Given the description of an element on the screen output the (x, y) to click on. 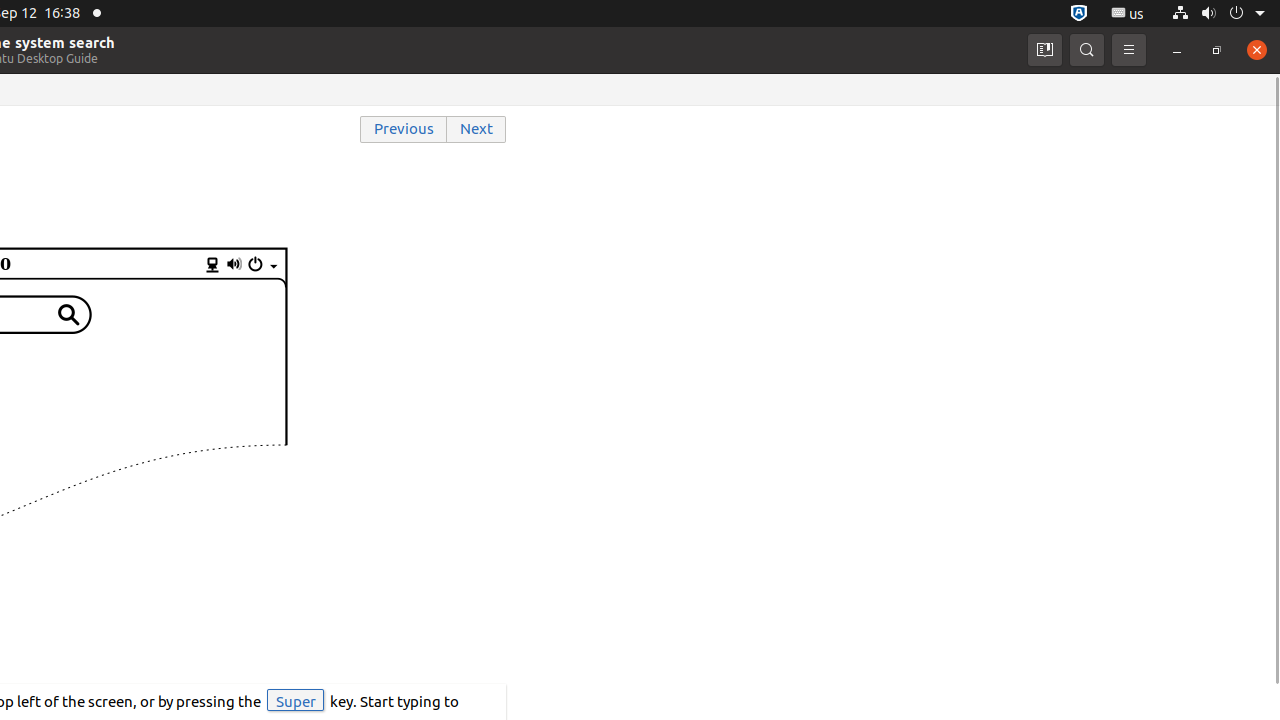
Next Element type: link (477, 129)
Restore Element type: push-button (1217, 50)
